Given the description of an element on the screen output the (x, y) to click on. 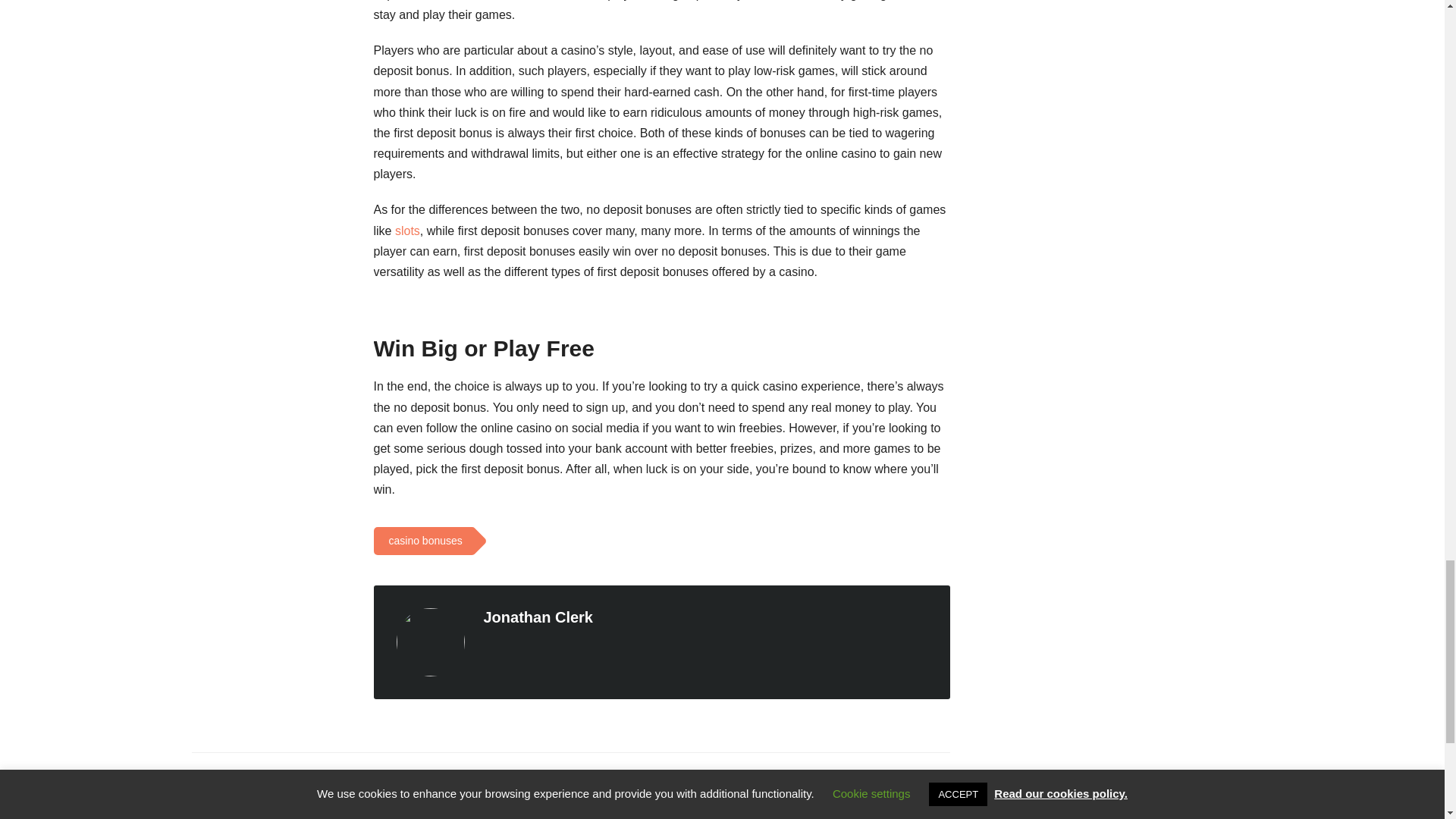
Posts by Jonathan Clerk (537, 617)
slots (407, 230)
Jonathan Clerk (537, 617)
casino bonuses (421, 541)
